Given the description of an element on the screen output the (x, y) to click on. 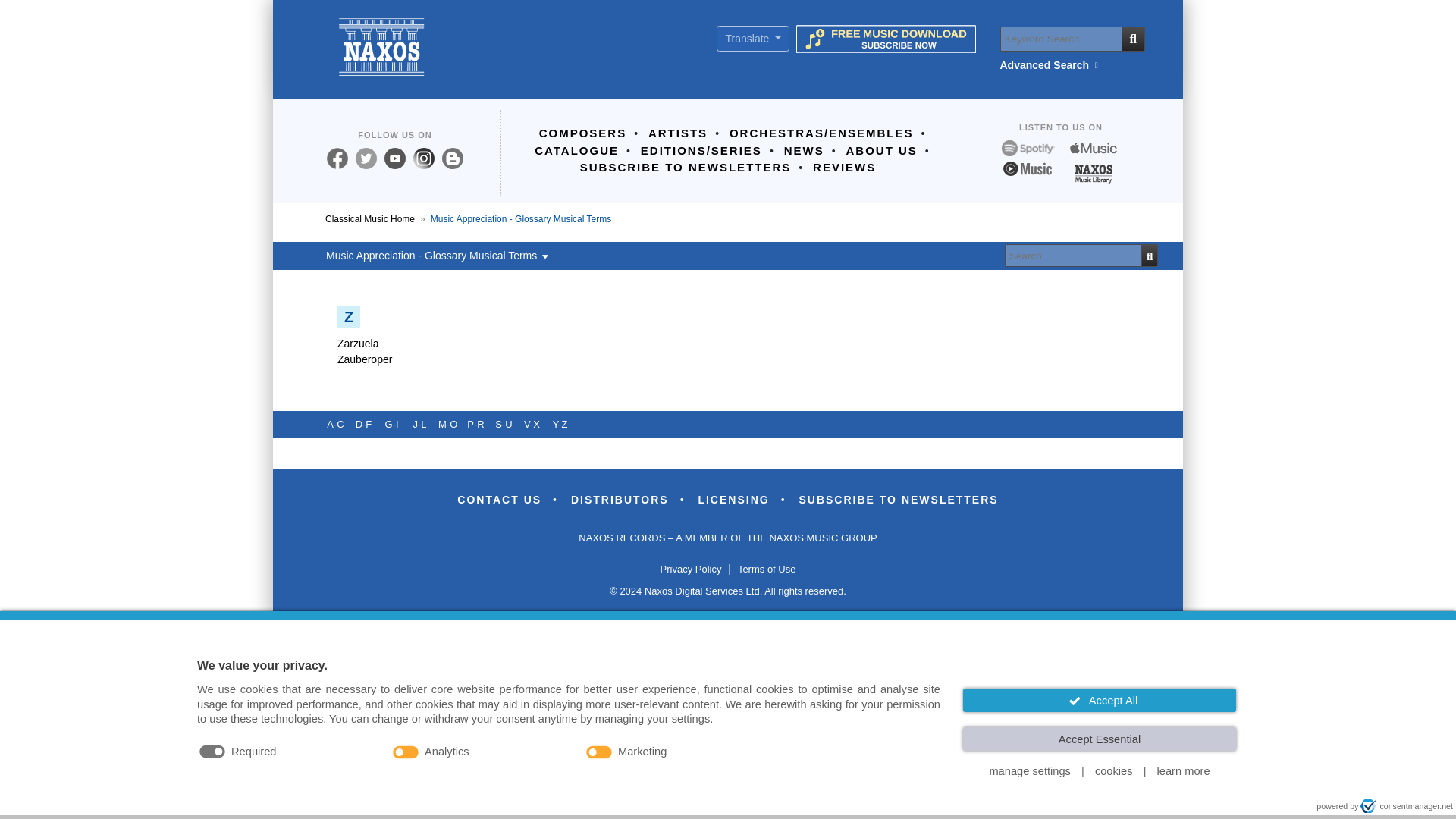
Translate (752, 38)
COMPOSERS (582, 132)
SUBSCRIBE TO NEWSLETTERS (685, 166)
NEWS (803, 150)
ABOUT US (881, 150)
ARTISTS (677, 132)
REVIEWS (844, 166)
CATALOGUE (576, 150)
